Given the description of an element on the screen output the (x, y) to click on. 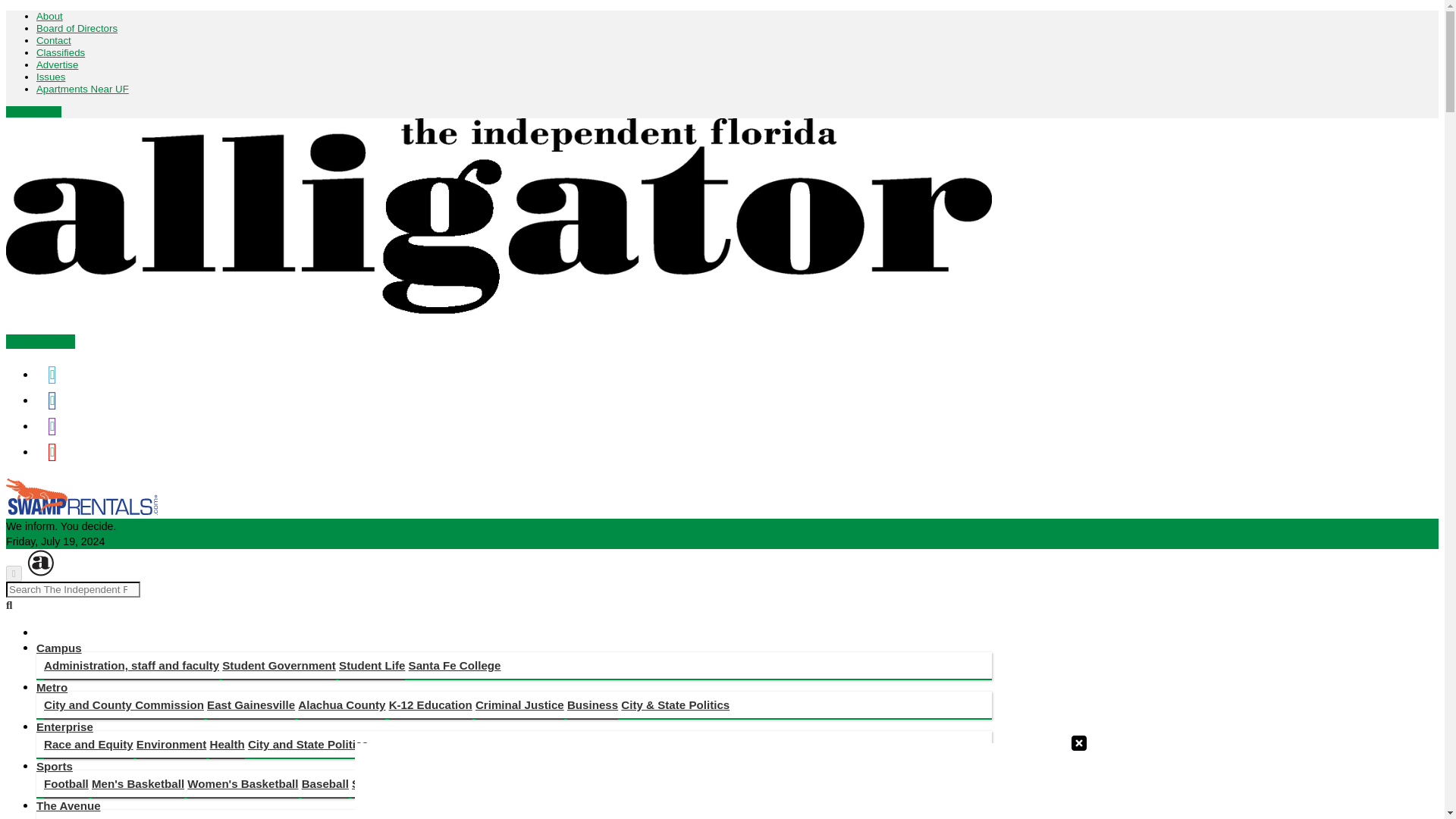
City and State Politics (307, 744)
Administration, staff and faculty (131, 665)
Race and Equity (88, 744)
Alachua County (341, 705)
Enterprise (64, 726)
About (49, 16)
City and County Commission (123, 705)
East Gainesville (250, 705)
Campus (58, 647)
Environment (171, 744)
Issues (50, 76)
Apartments Near UF (82, 89)
Business (592, 705)
Metro (51, 686)
Newsletter (40, 341)
